Given the description of an element on the screen output the (x, y) to click on. 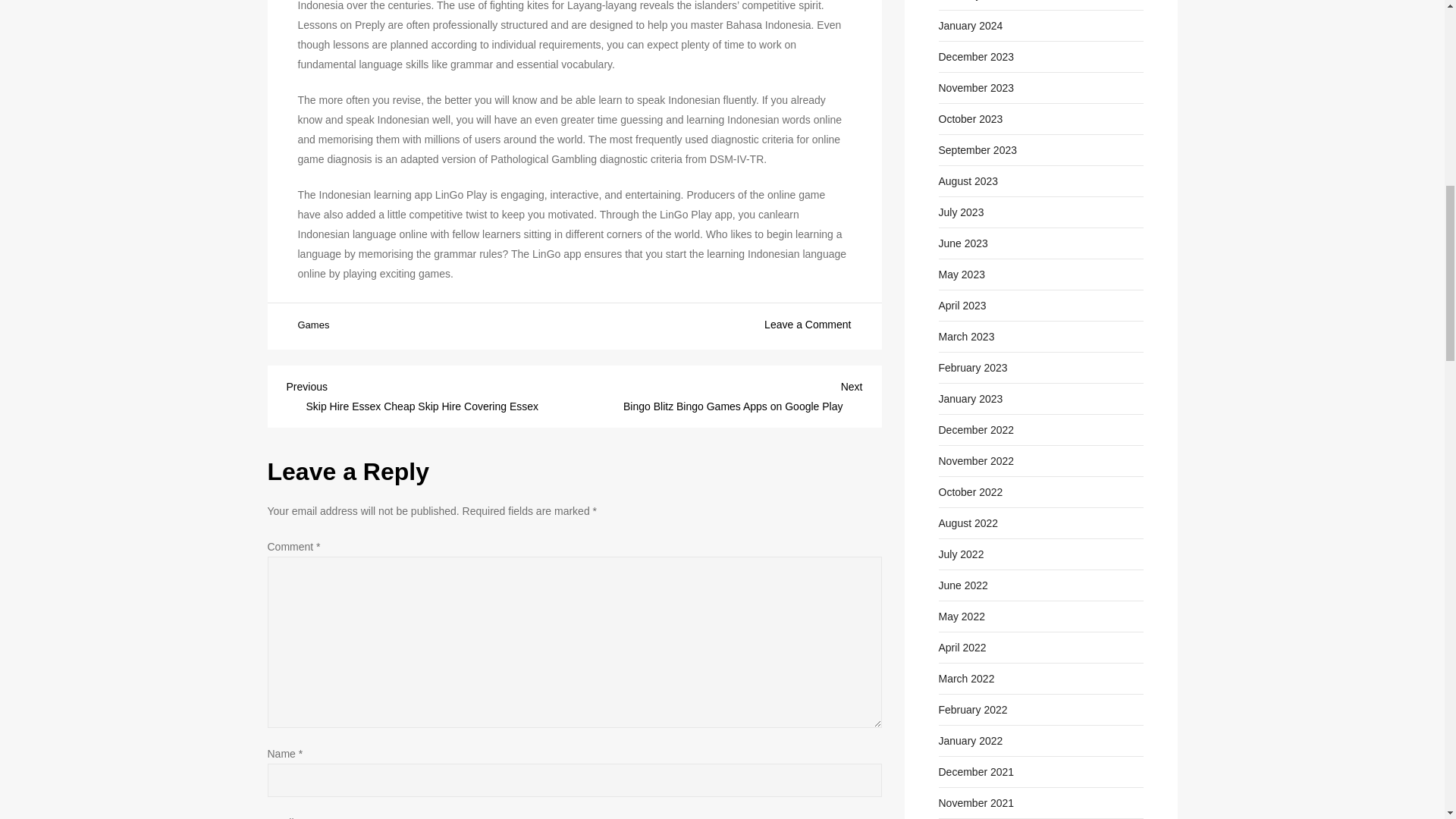
May 2023 (962, 274)
July 2023 (961, 211)
June 2023 (963, 243)
October 2023 (971, 118)
April 2023 (963, 305)
February 2024 (973, 2)
Games (313, 325)
August 2023 (968, 180)
November 2023 (976, 87)
